Given the description of an element on the screen output the (x, y) to click on. 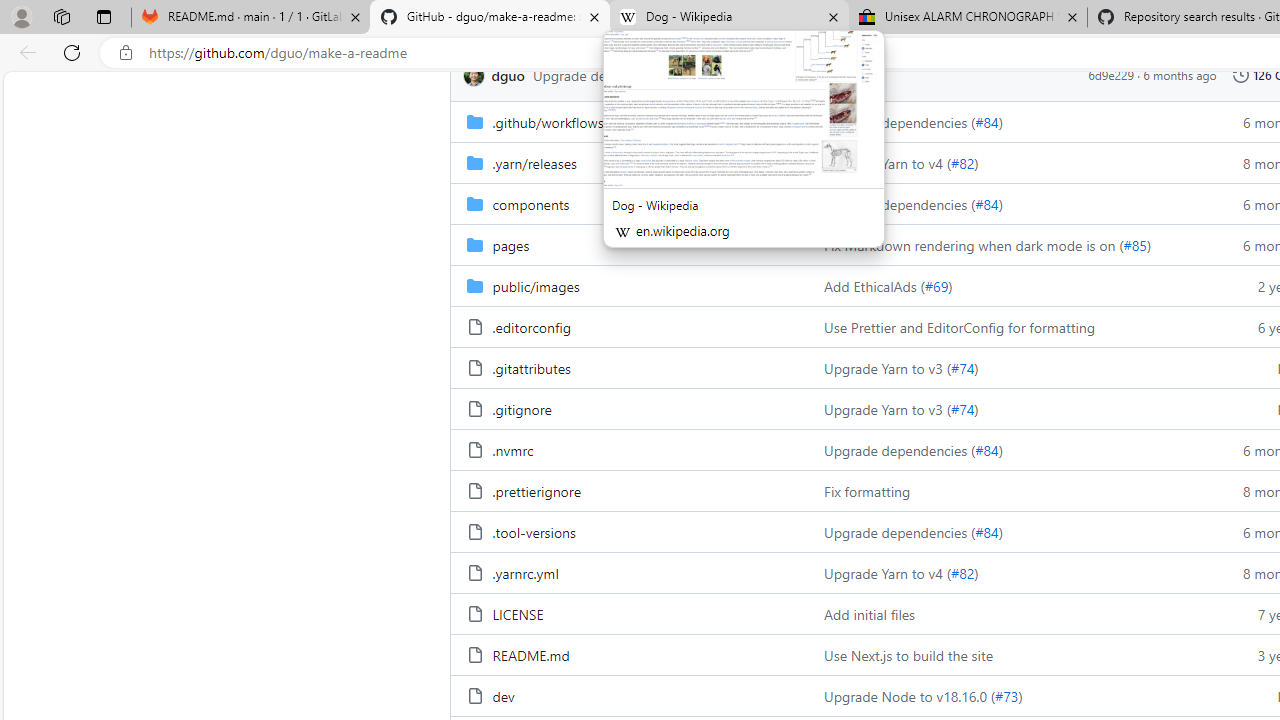
success (769, 75)
Add EthicalAds (#69) (1008, 285)
Use Next.js to build the site (1008, 654)
pages, (Directory) (510, 244)
#73 (1006, 696)
Use Prettier and EditorConfig for formatting (959, 326)
Use Next.js to build the site (908, 655)
README.md, (File) (530, 655)
.tool-versions, (File) (629, 531)
Fix formatting (1008, 490)
README.md, (File) (629, 654)
dguo (473, 75)
.prettierignore, (File) (629, 490)
.nvmrc, (File) (629, 449)
